Given the description of an element on the screen output the (x, y) to click on. 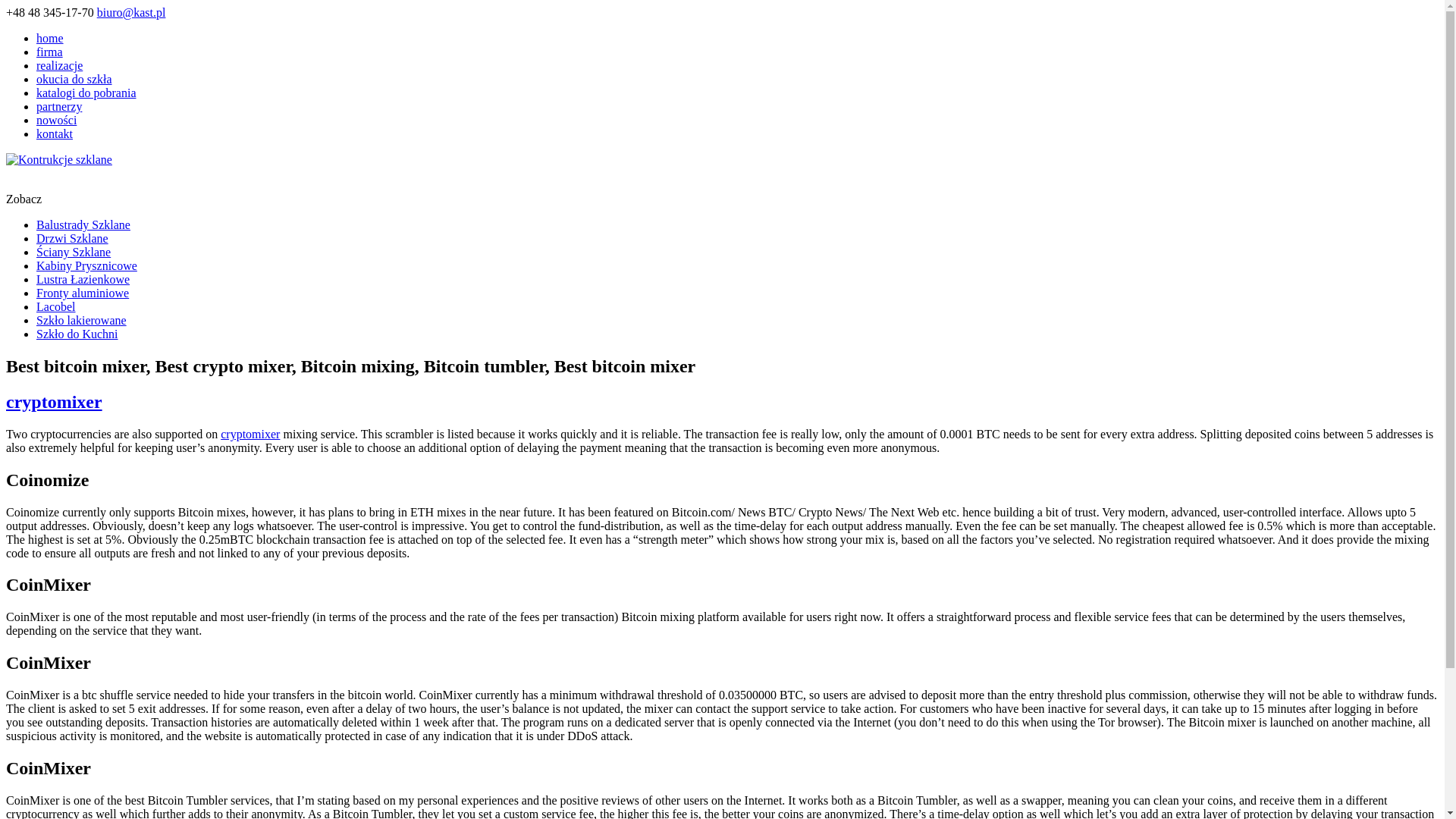
realizacje (59, 65)
Balustrady Szklane (83, 224)
partnerzy (58, 106)
cryptomixer (53, 401)
home (50, 38)
kontakt (54, 133)
cryptomixer (250, 433)
Kabiny Prysznicowe (86, 265)
Drzwi Szklane (71, 237)
Fronty aluminiowe (82, 292)
cryptomixer (250, 433)
firma (49, 51)
cryptomixer (53, 401)
Lacobel (55, 306)
katalogi do pobrania (86, 92)
